Given the description of an element on the screen output the (x, y) to click on. 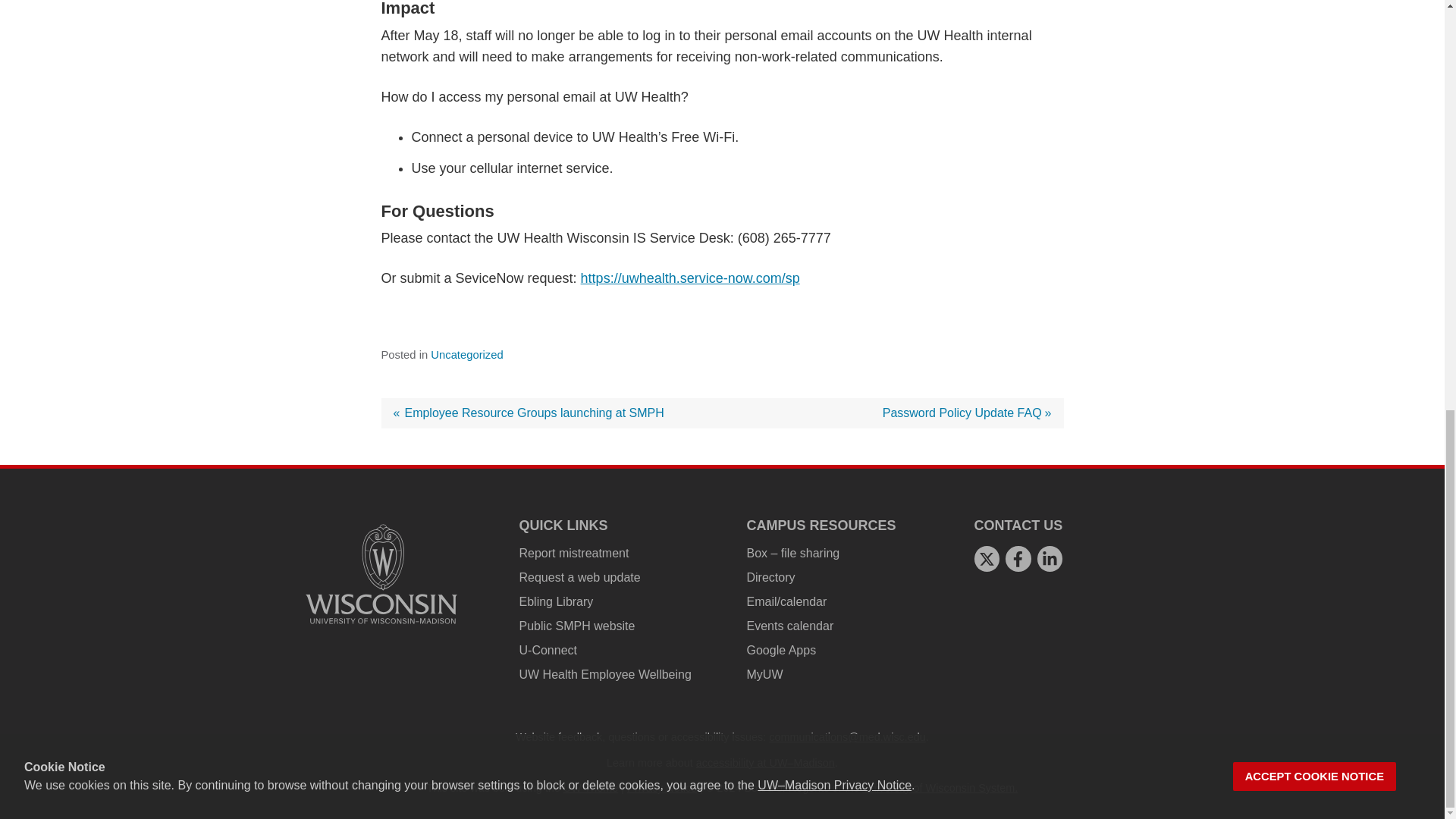
University logo that links to main university website (380, 573)
x twitter (986, 558)
linkedin (1049, 558)
facebook (1018, 558)
